Given the description of an element on the screen output the (x, y) to click on. 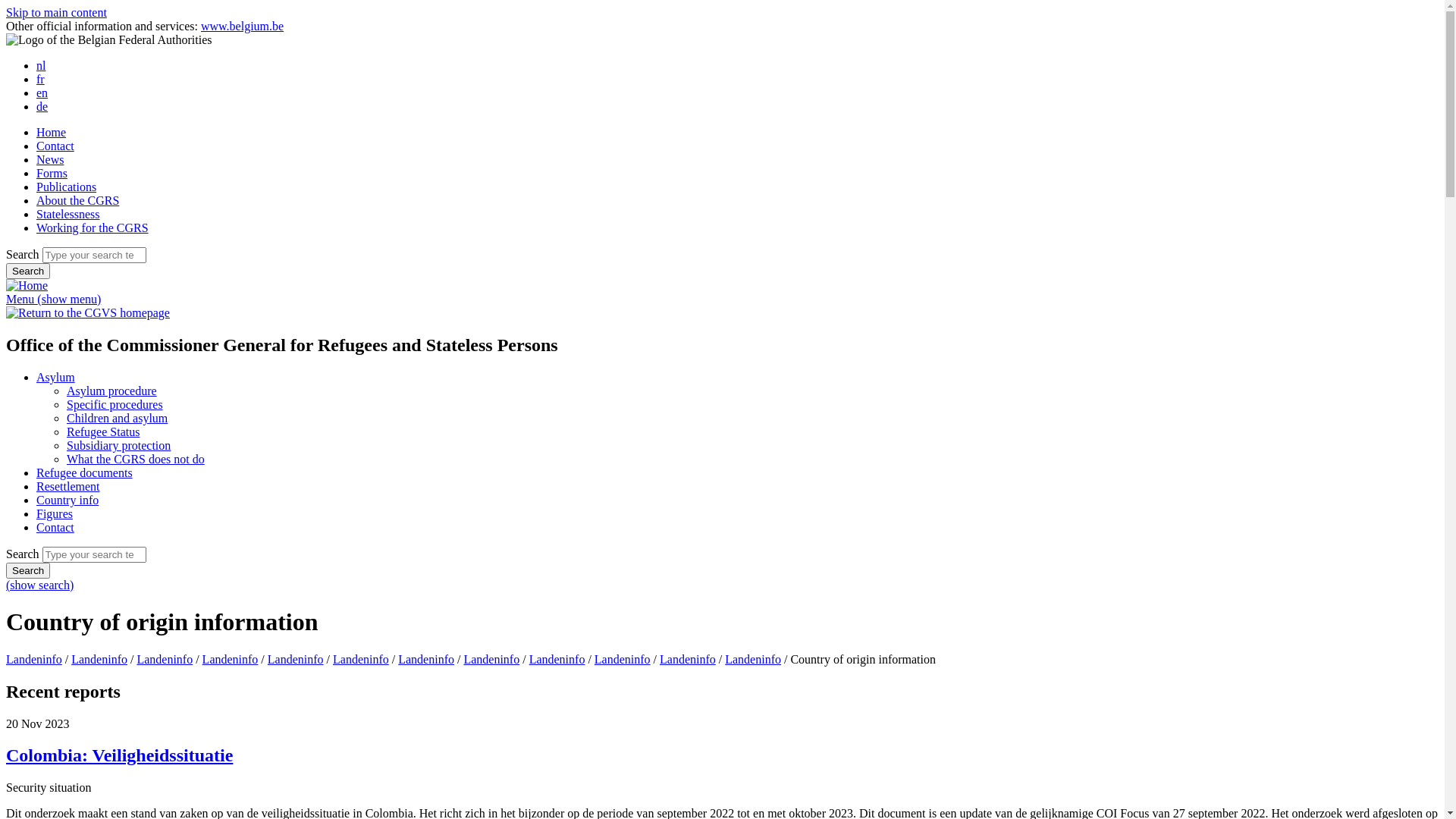
Landeninfo Element type: text (34, 658)
Home Element type: hover (26, 285)
Statelessness Element type: text (68, 213)
Colombia: Veiligheidssituatie Element type: text (119, 755)
Landeninfo Element type: text (164, 658)
Landeninfo Element type: text (99, 658)
About the CGRS Element type: text (77, 200)
Enter the terms you wish to search for. Element type: hover (94, 255)
nl Element type: text (40, 65)
Children and asylum Element type: text (116, 417)
Landeninfo Element type: text (622, 658)
Resettlement Element type: text (68, 486)
Contact Element type: text (55, 526)
en Element type: text (41, 92)
What the CGRS does not do Element type: text (135, 458)
Specific procedures Element type: text (114, 404)
News Element type: text (49, 159)
Forms Element type: text (51, 172)
Search Element type: text (28, 570)
Search Element type: text (28, 271)
Refugee documents Element type: text (84, 472)
Landeninfo Element type: text (557, 658)
Landeninfo Element type: text (687, 658)
Landeninfo Element type: text (230, 658)
Landeninfo Element type: text (491, 658)
Landeninfo Element type: text (426, 658)
Contact Element type: text (55, 145)
Asylum procedure Element type: text (111, 390)
Landeninfo Element type: text (295, 658)
Menu (show menu) Element type: text (53, 298)
Country info Element type: text (67, 499)
(show search) Element type: text (39, 584)
Subsidiary protection Element type: text (118, 445)
Landeninfo Element type: text (752, 658)
Landeninfo Element type: text (360, 658)
Return to the CGVS homepage Element type: hover (87, 312)
Skip to main content Element type: text (56, 12)
Refugee Status Element type: text (102, 431)
www.belgium.be Element type: text (241, 25)
Publications Element type: text (66, 186)
Figures Element type: text (54, 513)
fr Element type: text (40, 78)
de Element type: text (41, 106)
Home Element type: text (50, 131)
Working for the CGRS Element type: text (92, 227)
Enter the terms you wish to search for. Element type: hover (94, 554)
Asylum Element type: text (55, 376)
